Given the description of an element on the screen output the (x, y) to click on. 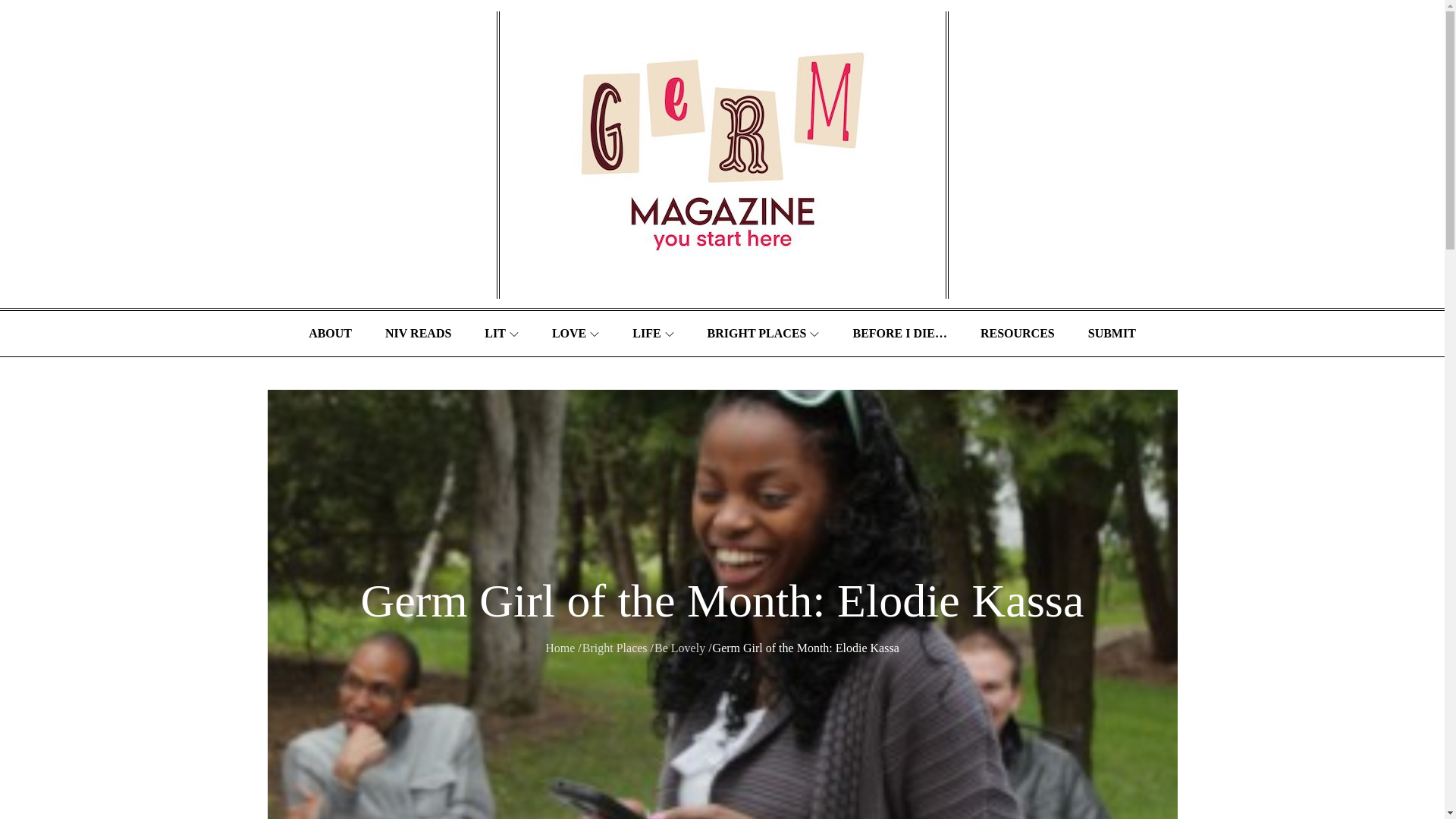
LIT (501, 333)
ABOUT (330, 333)
BRIGHT PLACES (763, 333)
LIFE (652, 333)
LOVE (575, 333)
NIV READS (417, 333)
